Given the description of an element on the screen output the (x, y) to click on. 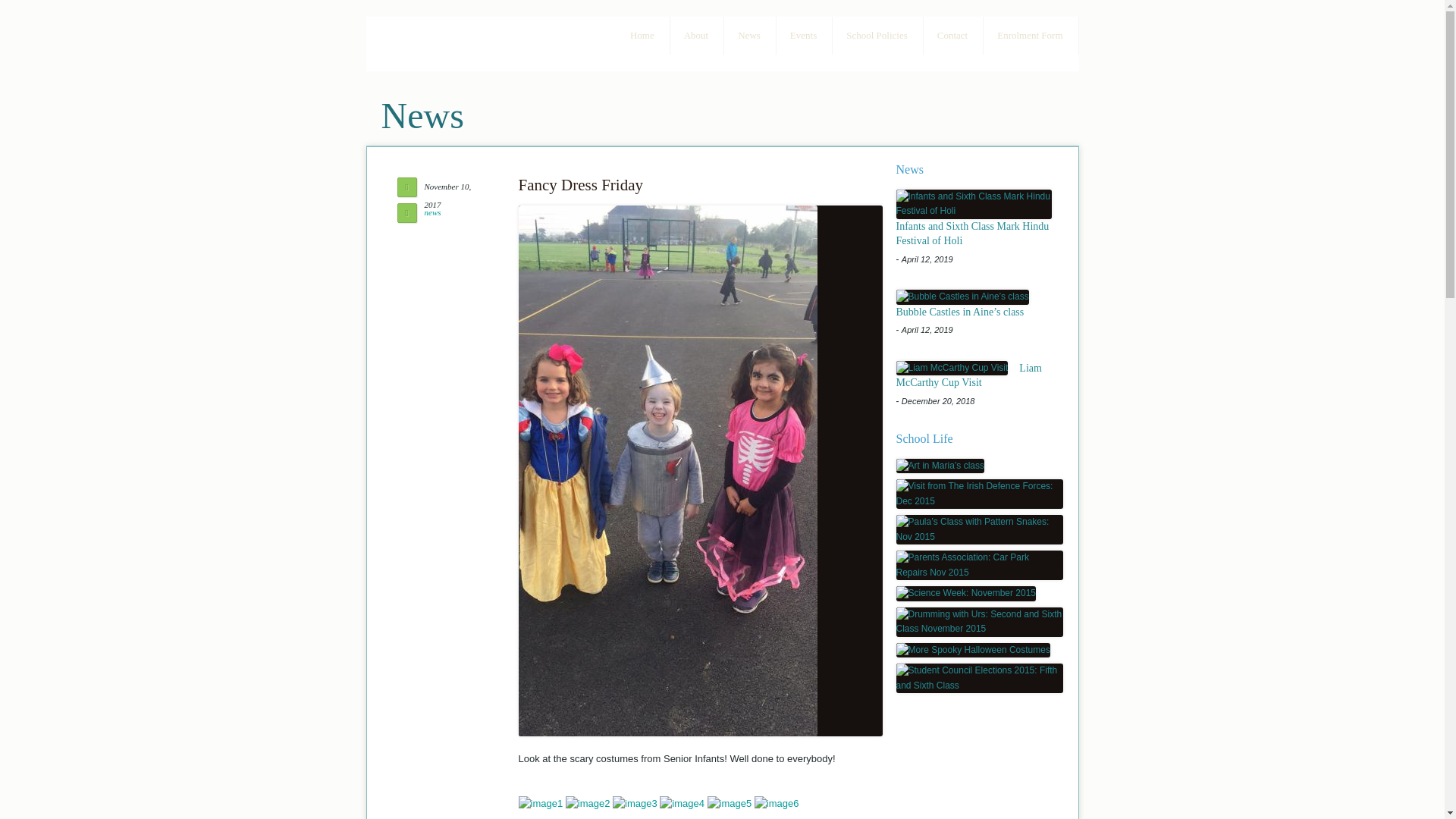
Limerick Educate Together NS (459, 44)
Infants and Sixth Class Mark Hindu Festival of Holi (972, 233)
Infants and Sixth Class Mark Hindu Festival of Holi (973, 204)
news (433, 212)
About (695, 35)
Home (641, 35)
news (433, 212)
Liam McCarthy Cup Visit (969, 375)
School Policies (876, 35)
Enrolment Form (1029, 35)
Liam McCarthy Cup Visit (952, 368)
News (748, 35)
Contact (952, 35)
Events (802, 35)
